Given the description of an element on the screen output the (x, y) to click on. 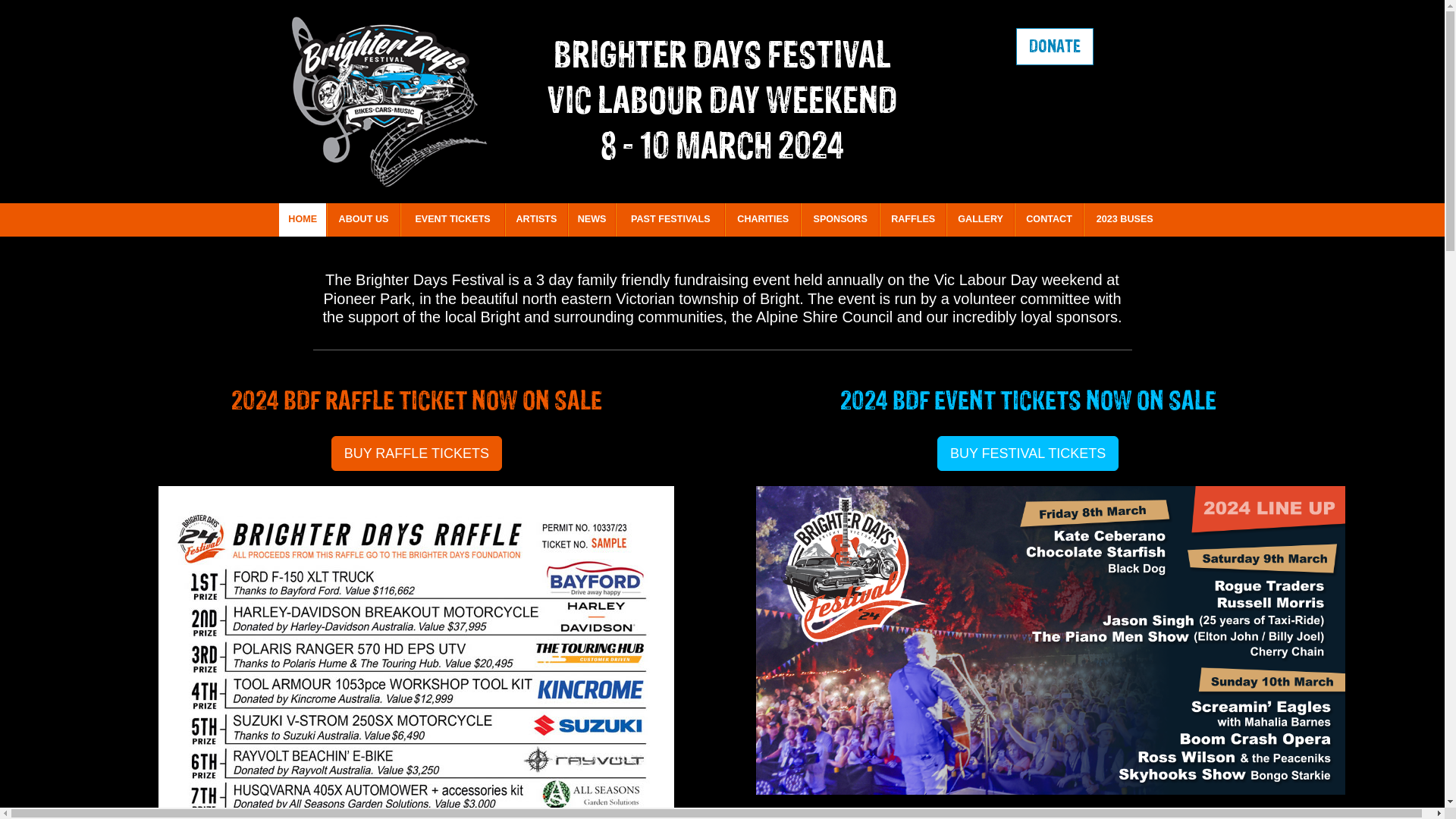
CHARITIES Element type: text (762, 219)
NEWS Element type: text (591, 219)
CONTACT Element type: text (1048, 219)
DONATE Element type: text (1054, 46)
EVENT TICKETS Element type: text (452, 219)
HOME Element type: text (302, 219)
BRIGHTER DAYS FESTIVAL Element type: text (722, 54)
ARTISTS Element type: text (536, 219)
2023 BUSES Element type: text (1124, 219)
PAST FESTIVALS Element type: text (669, 219)
BUY FESTIVAL TICKETS Element type: text (1027, 453)
RAFFLES Element type: text (912, 219)
BUY RAFFLE TICKETS Element type: text (416, 453)
ABOUT US Element type: text (363, 219)
GALLERY Element type: text (980, 219)
SPONSORS Element type: text (839, 219)
